Given the description of an element on the screen output the (x, y) to click on. 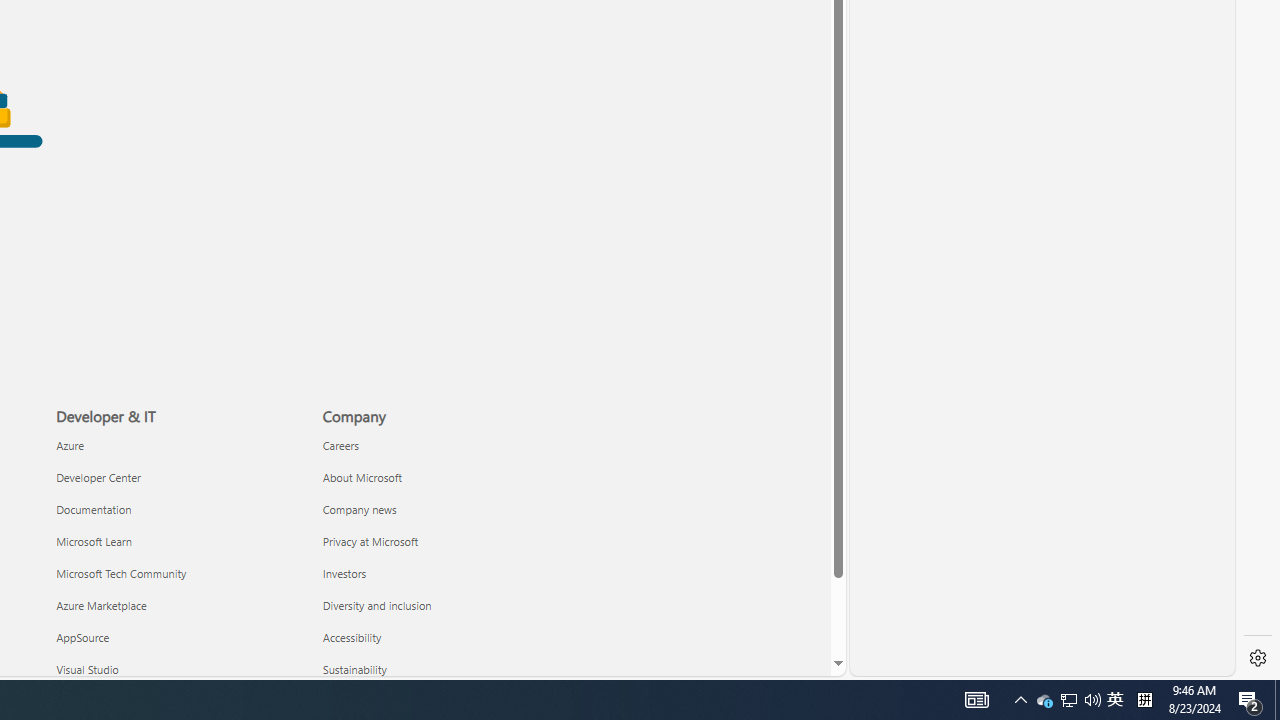
Azure Developer & IT (70, 444)
AppSource (177, 636)
